Given the description of an element on the screen output the (x, y) to click on. 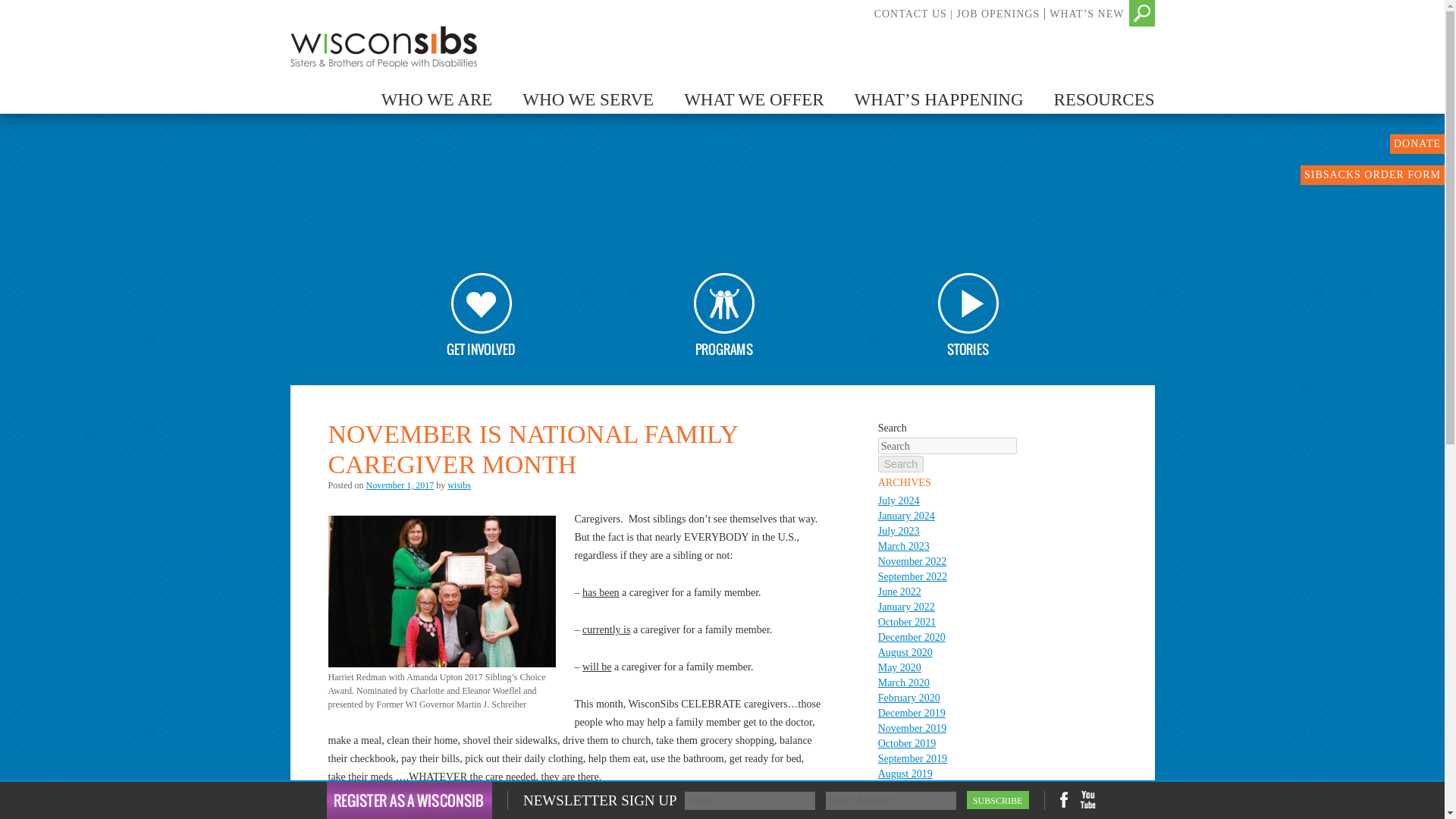
Search (25, 9)
Search (900, 463)
3:35 pm (399, 484)
View all posts by wisibs (458, 484)
Subscribe (997, 800)
